Given the description of an element on the screen output the (x, y) to click on. 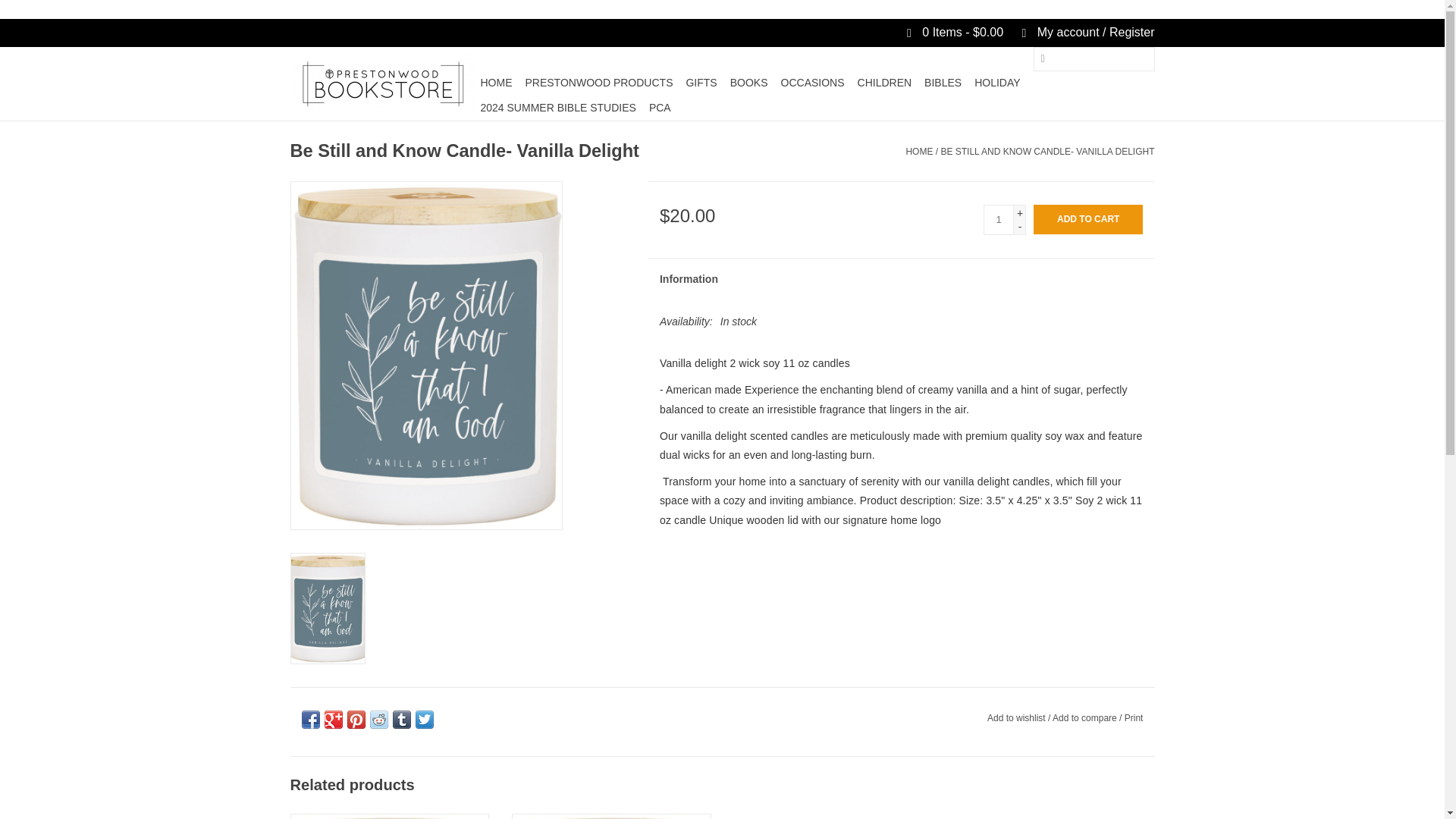
Gifts (700, 82)
HOME (496, 82)
Cart (948, 31)
1 (998, 219)
Prestonwood Products (598, 82)
My account (1080, 31)
PRESTONWOOD PRODUCTS (598, 82)
GIFTS (700, 82)
Prestonwood Bookstore (382, 84)
Search (1041, 59)
BOOKS (749, 82)
